Given the description of an element on the screen output the (x, y) to click on. 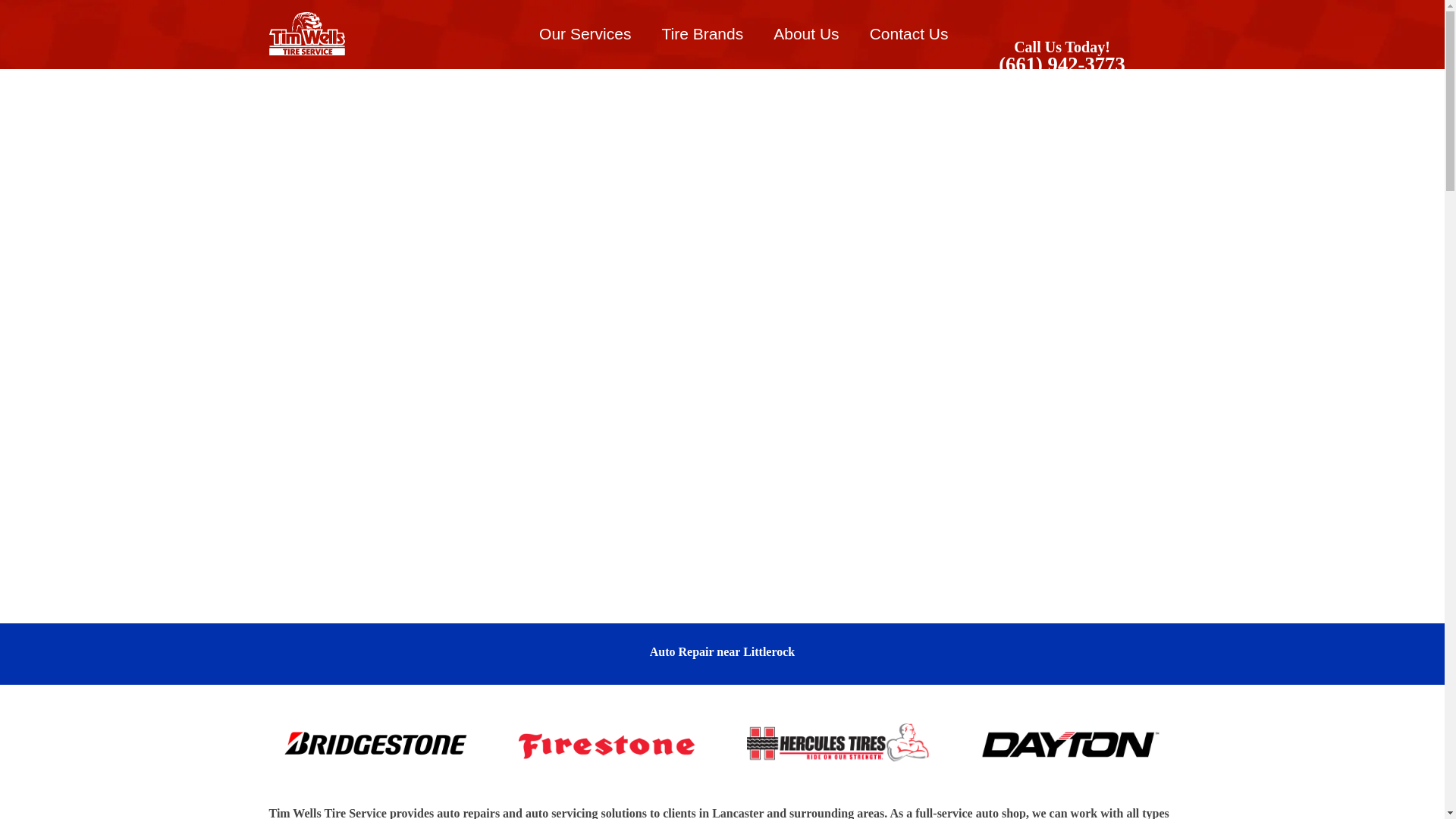
Our Services (585, 33)
About Us (805, 33)
Tim Wells Tire Service (305, 33)
Tire Brands (702, 33)
Contact Us (908, 33)
